Given the description of an element on the screen output the (x, y) to click on. 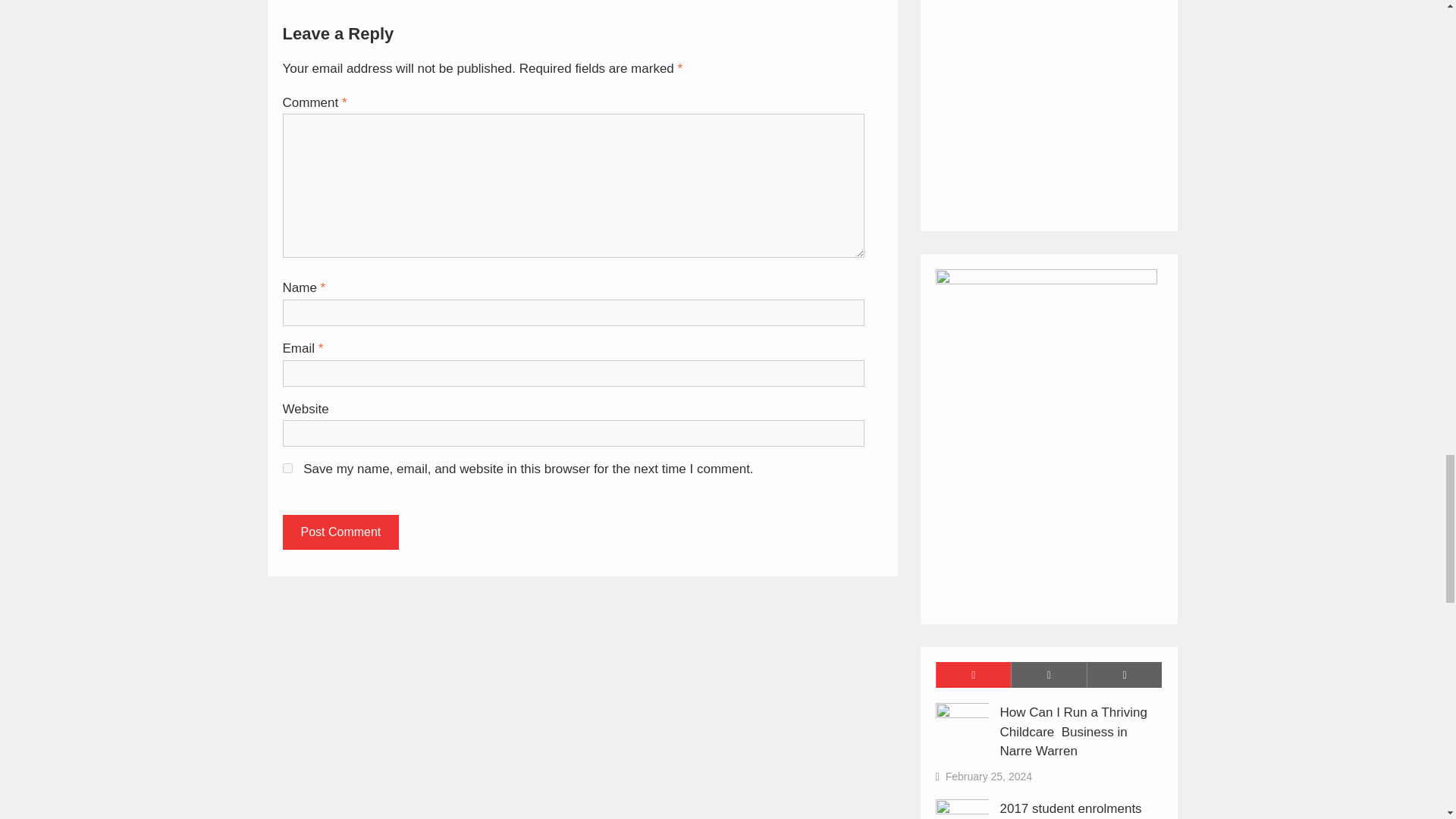
Post Comment (340, 532)
Post Comment (340, 532)
yes (287, 468)
